Given the description of an element on the screen output the (x, y) to click on. 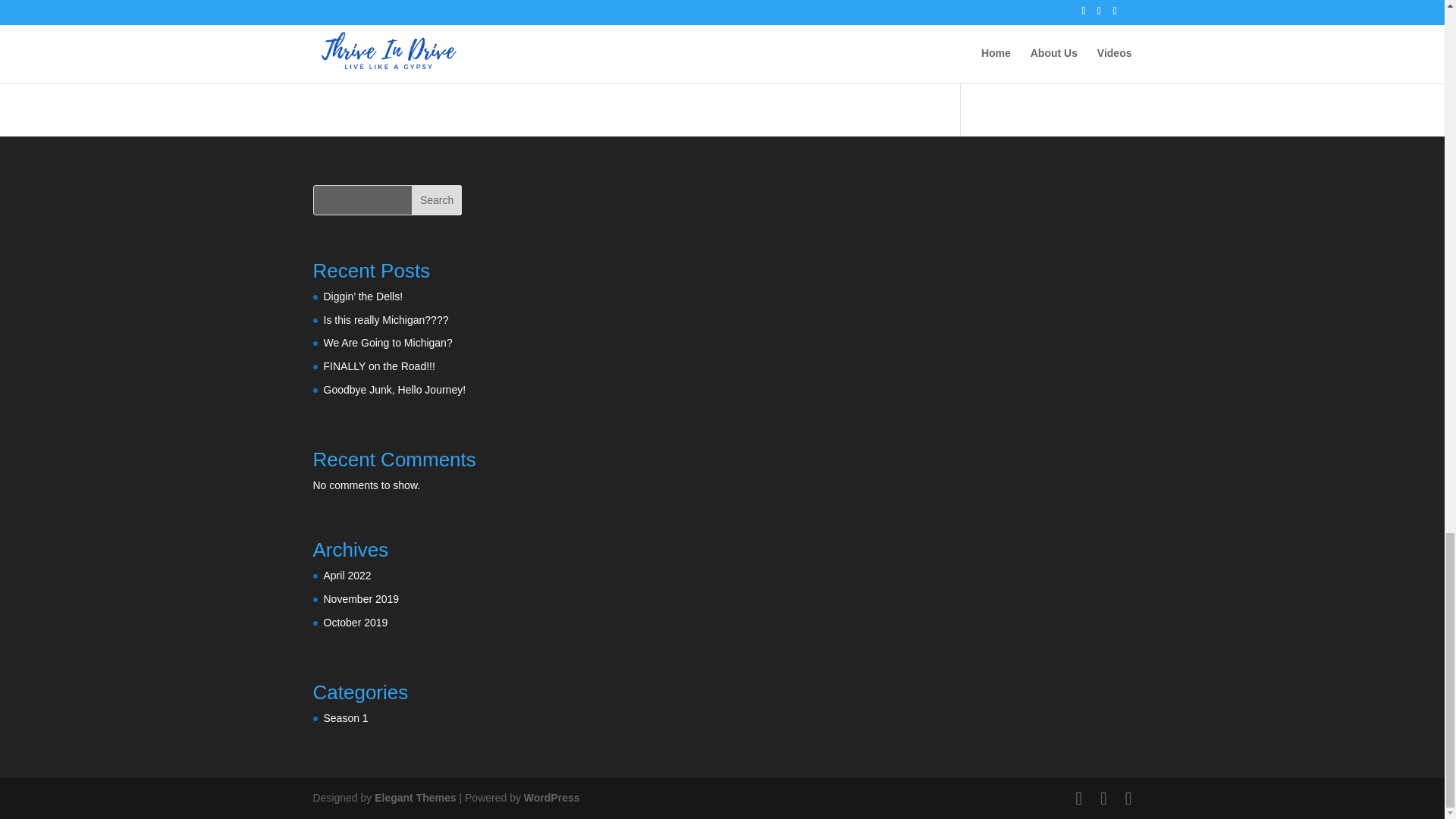
November 2019 (360, 598)
Elegant Themes (414, 797)
April 2022 (347, 575)
Is this really Michigan???? (385, 319)
WordPress (551, 797)
Search (436, 200)
Premium WordPress Themes (414, 797)
Submit Comment (840, 8)
We Are Going to Michigan? (387, 342)
October 2019 (355, 622)
Submit Comment (840, 8)
Season 1 (345, 717)
Goodbye Junk, Hello Journey! (394, 389)
FINALLY on the Road!!! (378, 366)
